Given the description of an element on the screen output the (x, y) to click on. 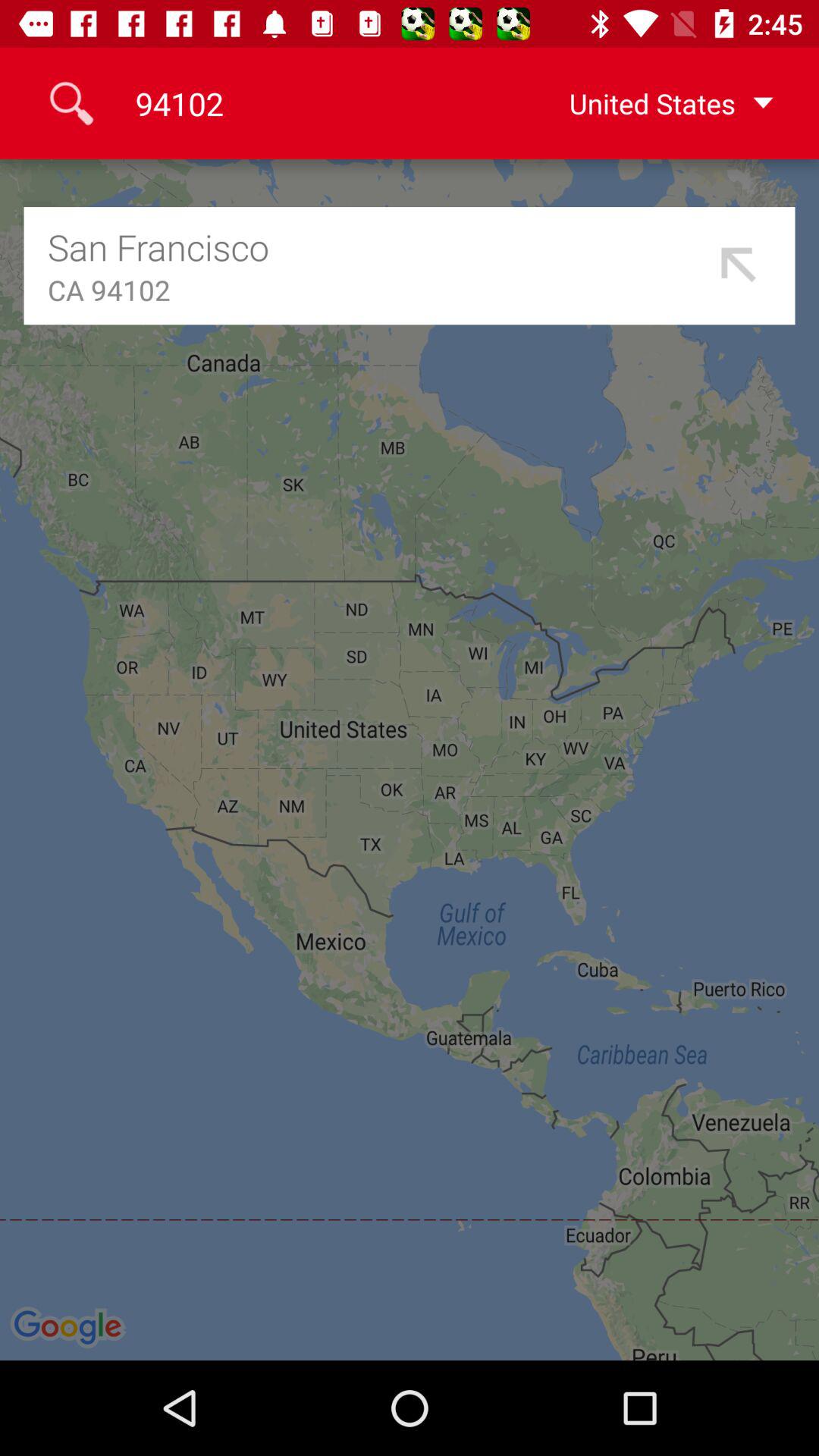
press icon to the right of 94102 (647, 103)
